Given the description of an element on the screen output the (x, y) to click on. 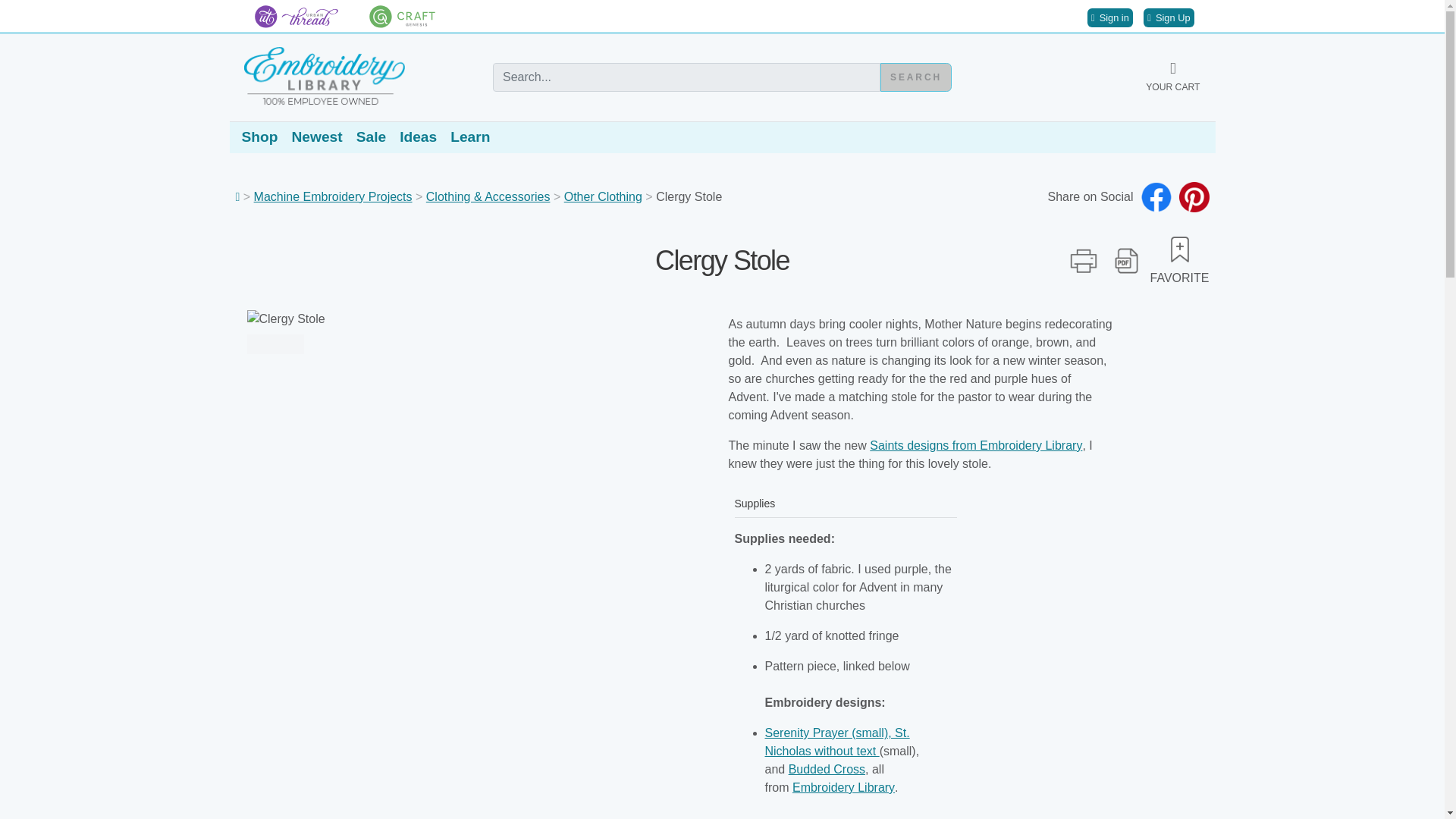
Sign in (1109, 16)
Shop (259, 136)
Learn (469, 136)
Sign In (1109, 16)
Print Order (1083, 260)
Ideas (417, 136)
Add Clergy Stole to Favorites (1179, 249)
Download PDF (1127, 260)
Sign Up (1167, 16)
SEARCH (916, 77)
New Account (1167, 16)
Newest (316, 136)
Sale (370, 136)
